Given the description of an element on the screen output the (x, y) to click on. 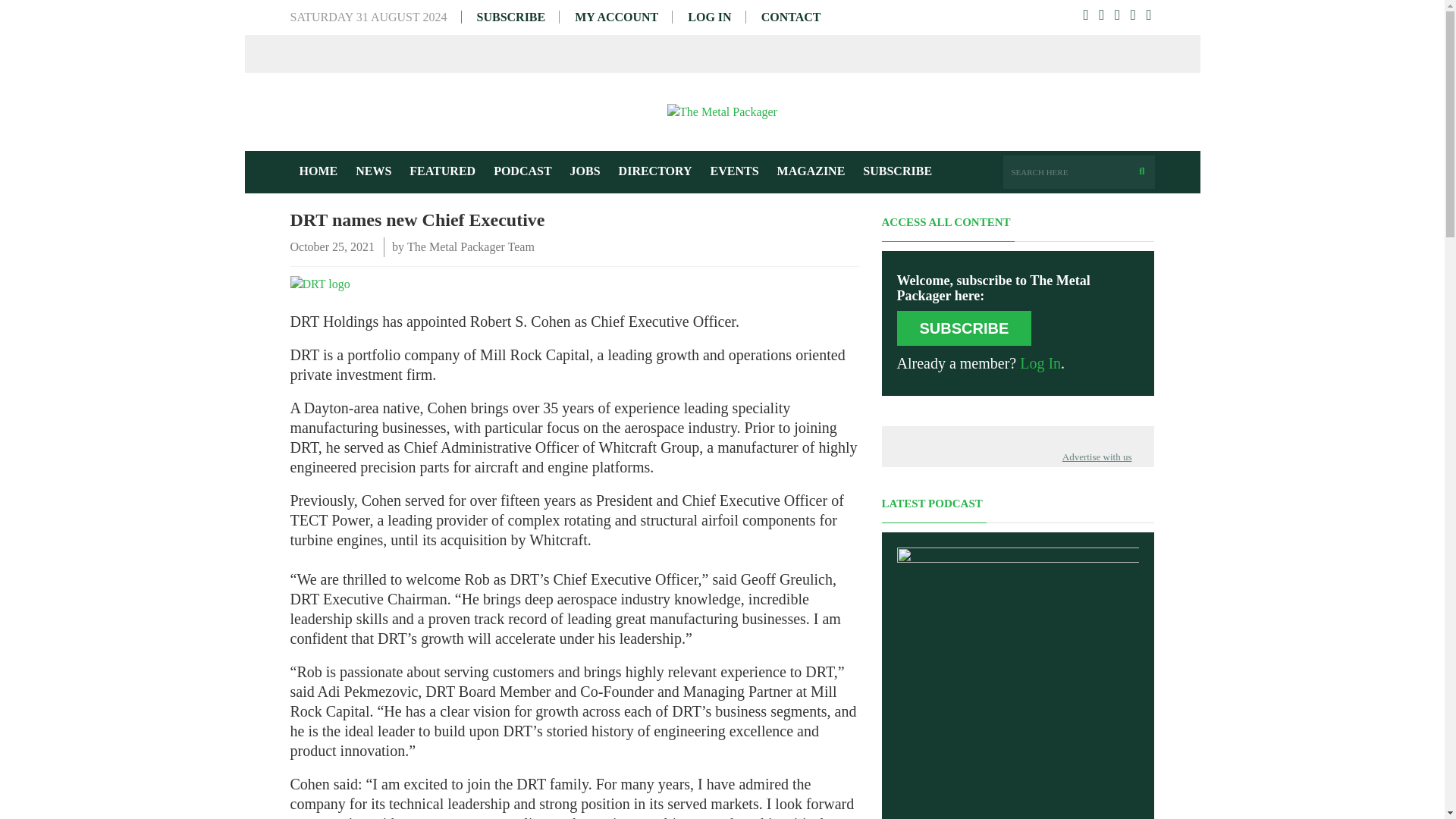
Subscribe (896, 170)
PODCAST (522, 170)
Advertise with us (1097, 456)
The Metal Packager Team (470, 247)
MY ACCOUNT (616, 16)
CONTACT (791, 16)
Posts by The Metal Packager Team (470, 247)
FEATURED (442, 170)
News (373, 170)
MAGAZINE (811, 170)
